Given the description of an element on the screen output the (x, y) to click on. 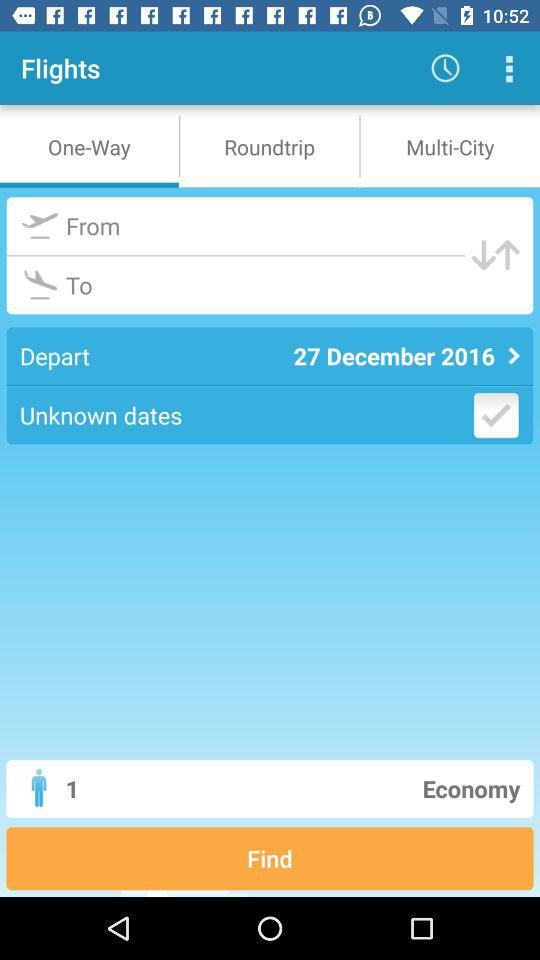
launch the item below the 1 (269, 858)
